Given the description of an element on the screen output the (x, y) to click on. 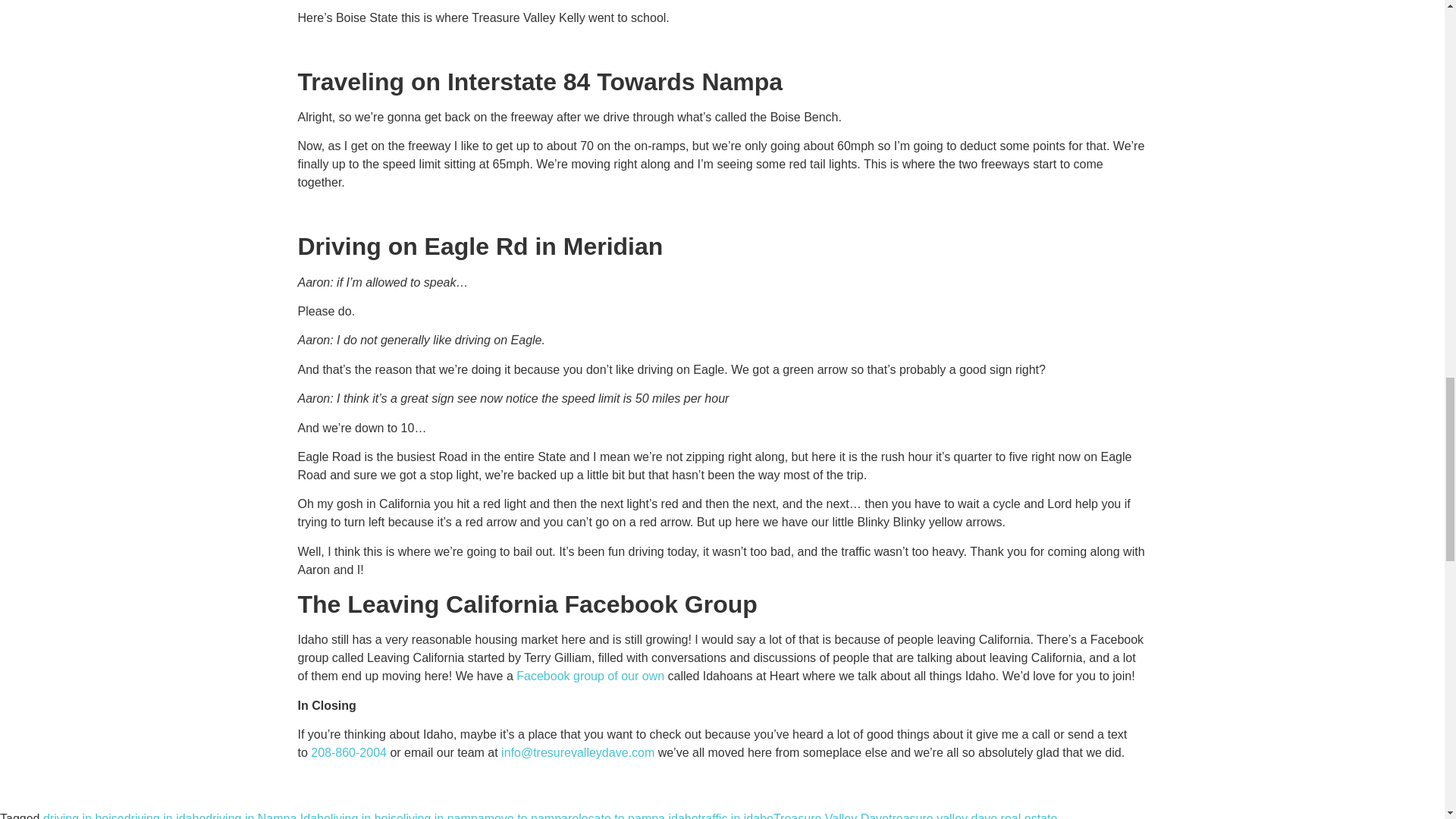
Facebook group of our own (589, 675)
driving in boise (83, 815)
208-860-2004 (349, 752)
